Given the description of an element on the screen output the (x, y) to click on. 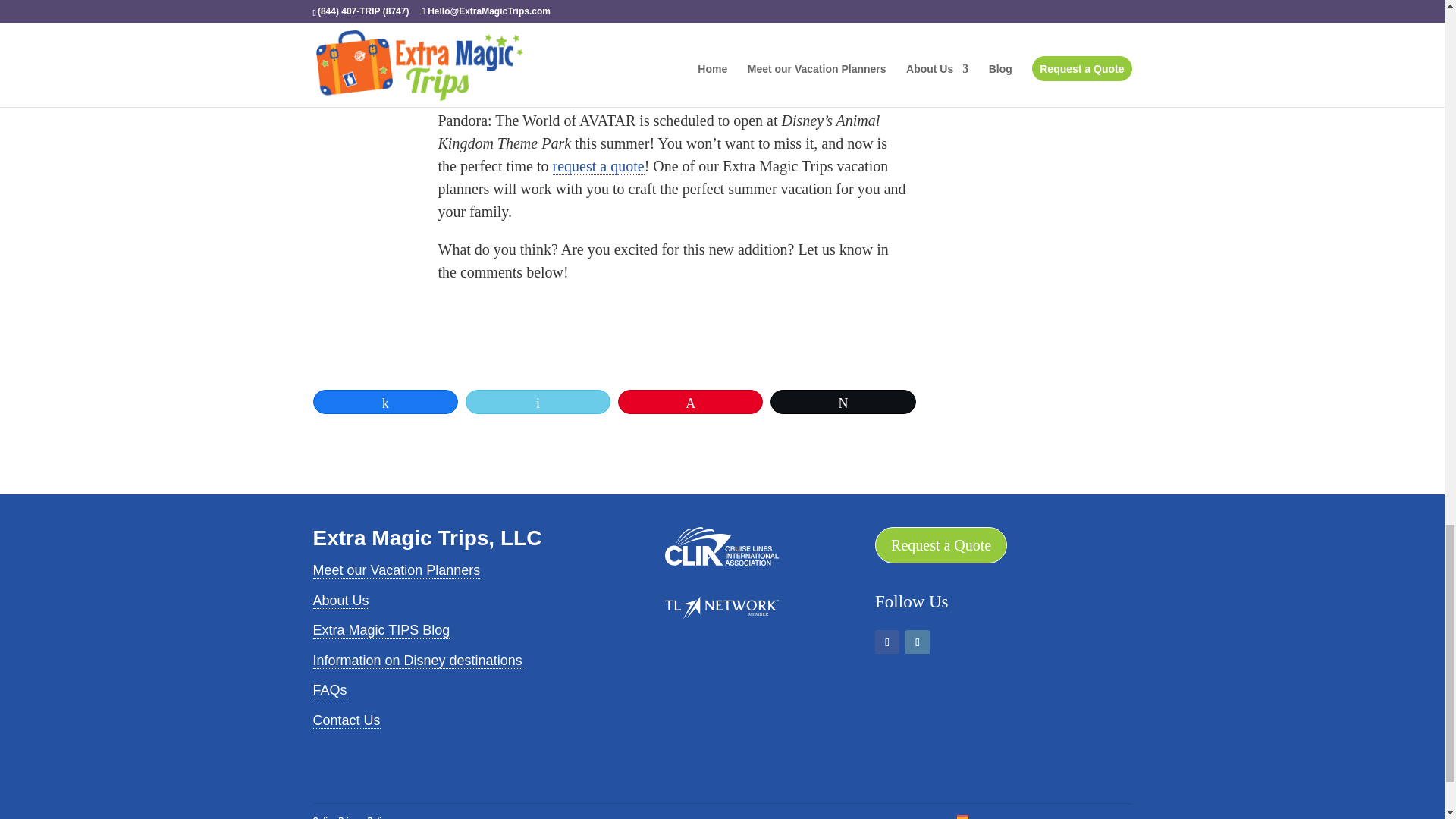
request a quote (599, 166)
Follow on Instagram (917, 641)
Follow on Facebook (887, 641)
